Given the description of an element on the screen output the (x, y) to click on. 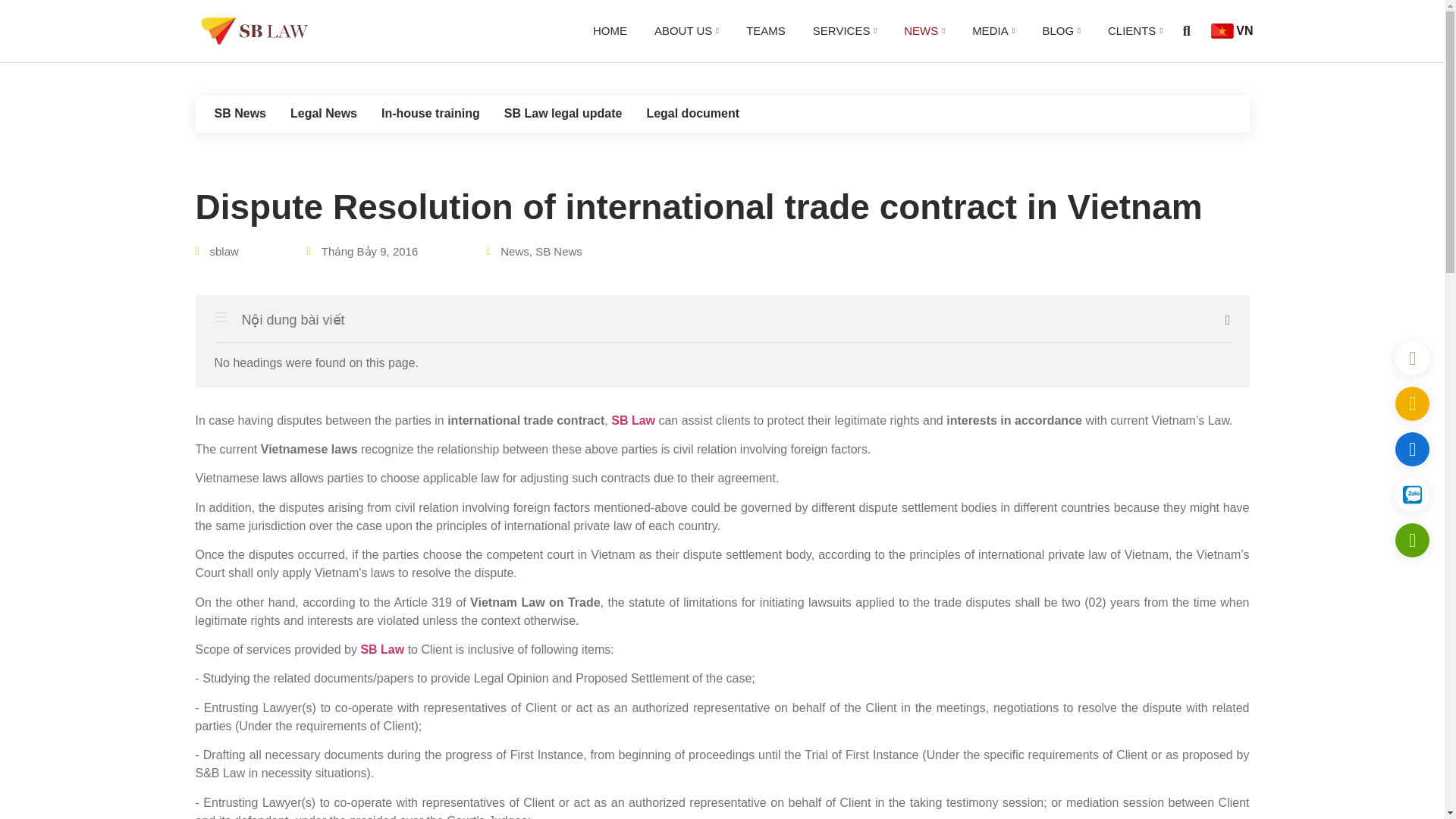
ABOUT US (686, 31)
SERVICES (844, 31)
